Given the description of an element on the screen output the (x, y) to click on. 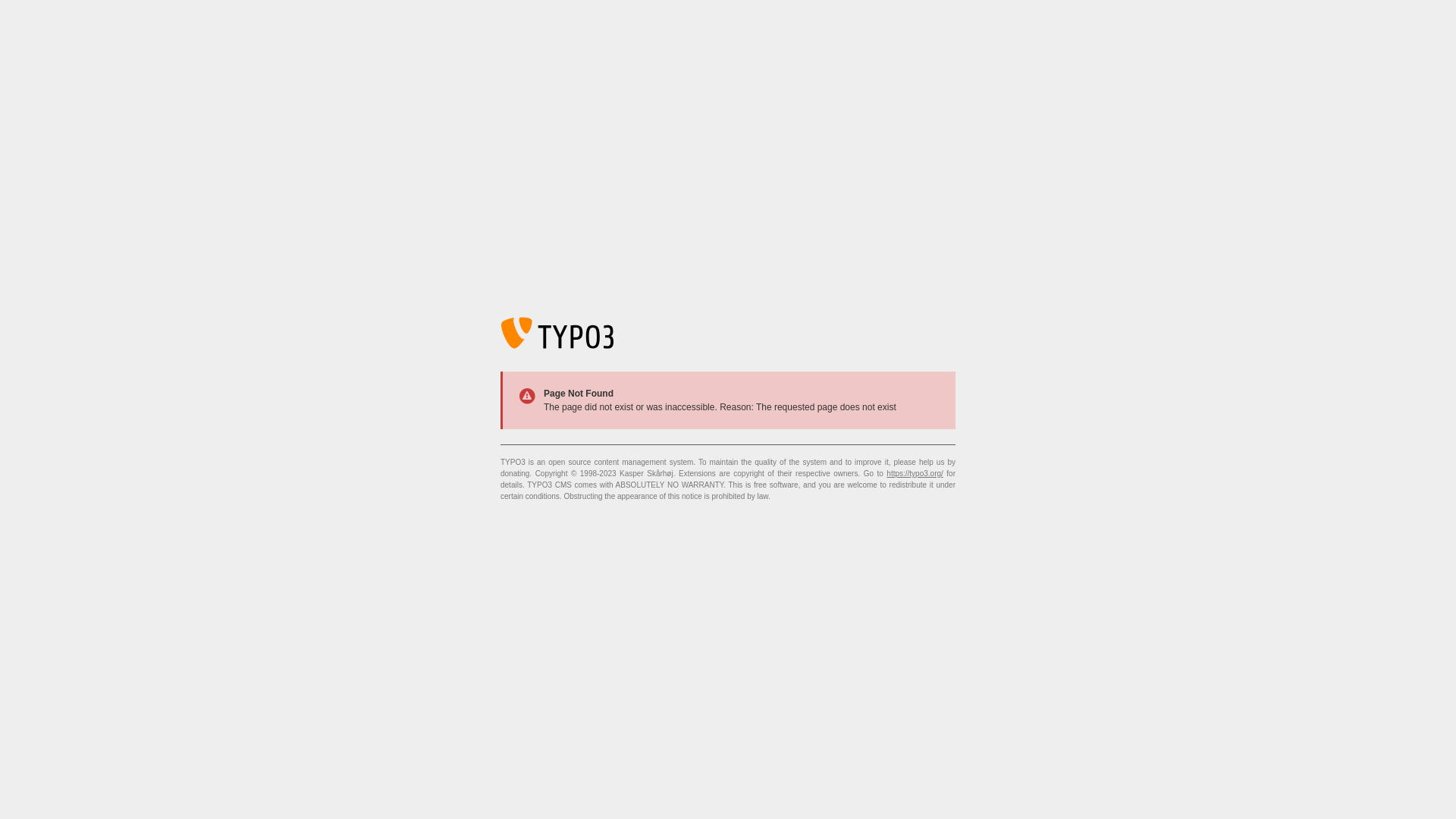
https://typo3.org/ Element type: text (914, 473)
